Given the description of an element on the screen output the (x, y) to click on. 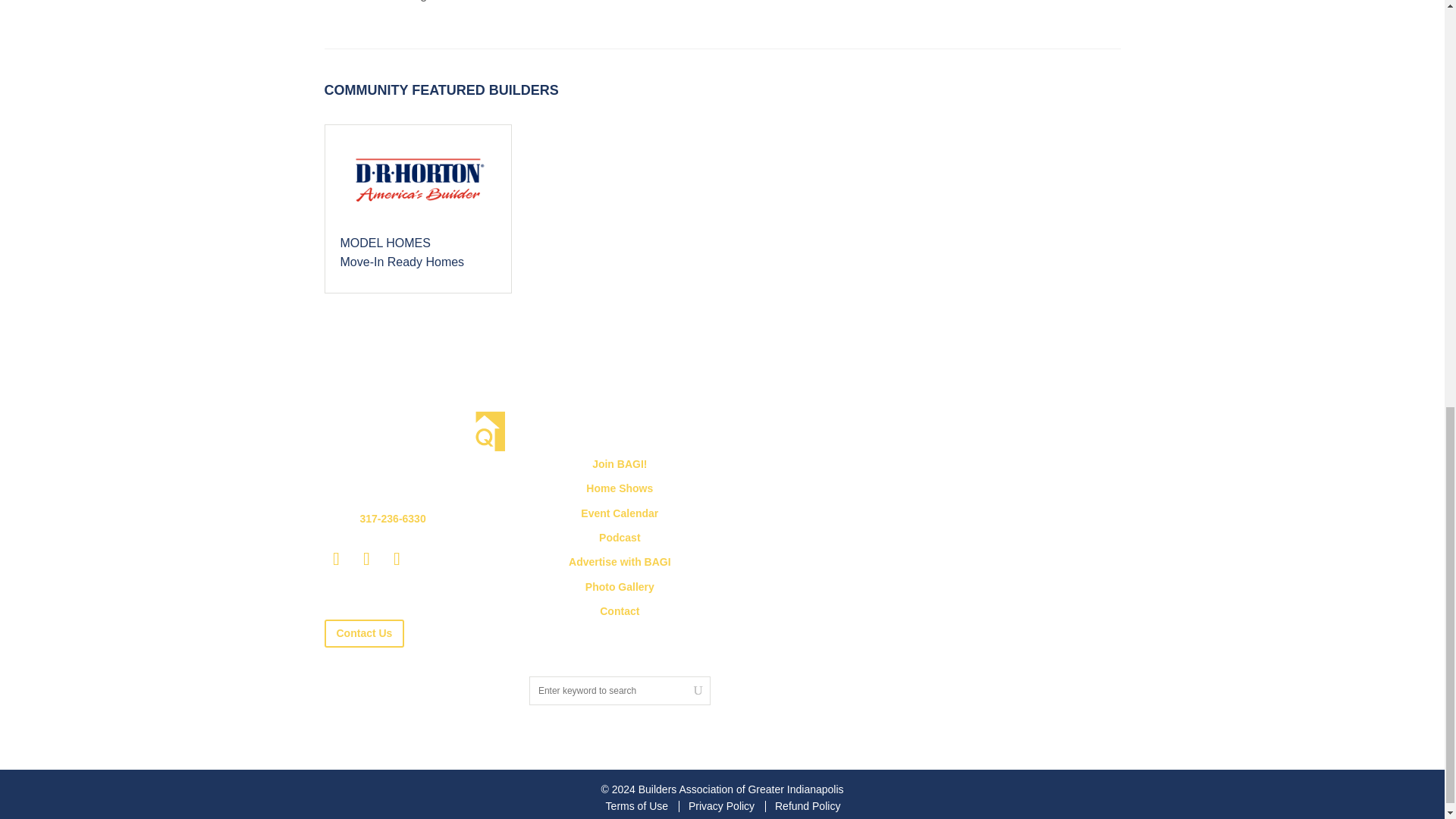
Follow on Instagram (397, 558)
Search for: (619, 690)
Follow on Facebook (366, 558)
Cottages at Trailside (417, 207)
BAGI-White-Logo (414, 431)
Follow on LinkedIn (336, 558)
